Given the description of an element on the screen output the (x, y) to click on. 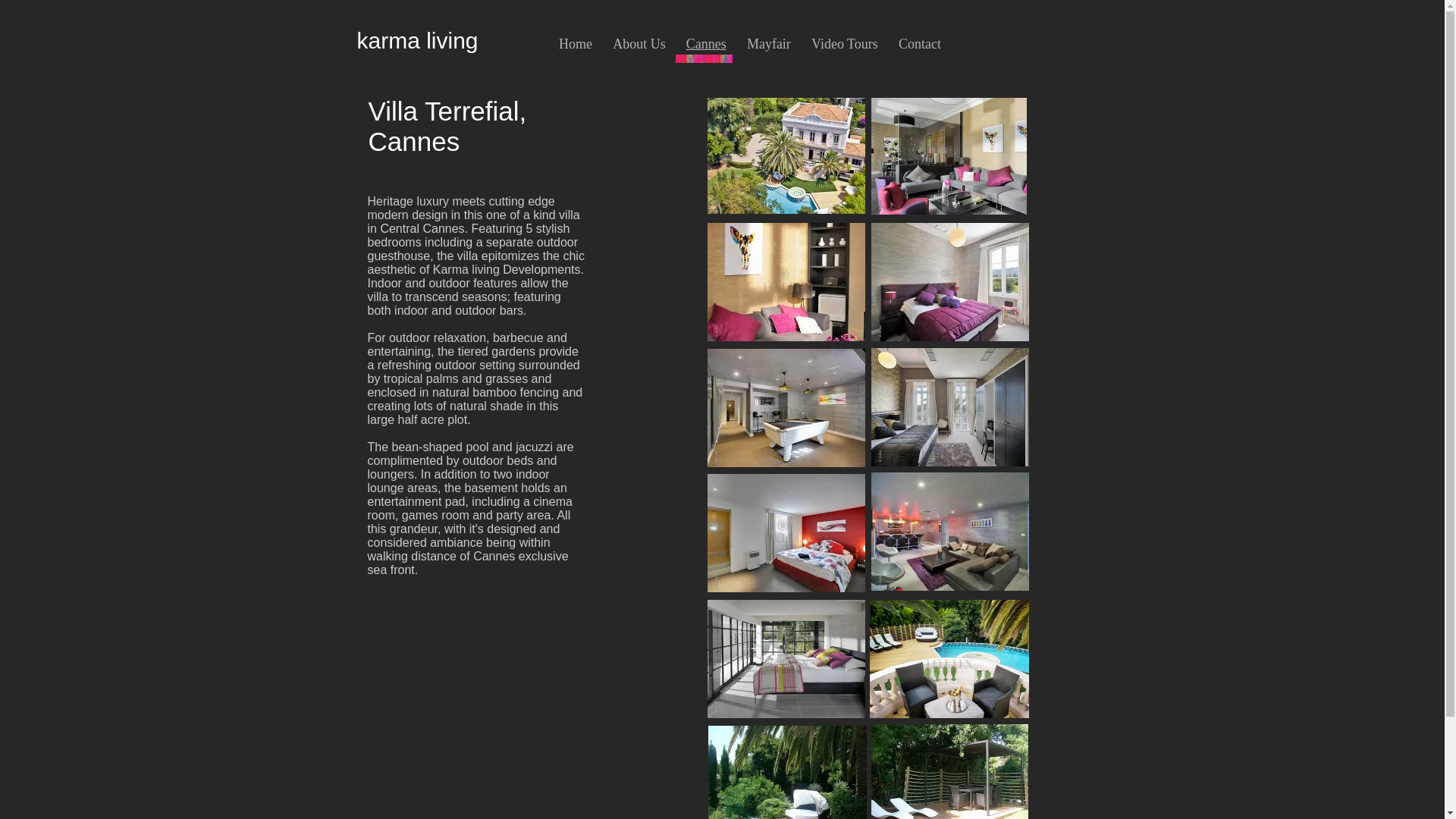
Video Tours (844, 44)
Home (575, 44)
Cannes (705, 44)
Contact (919, 44)
About Us (639, 44)
Mayfair (768, 44)
